Given the description of an element on the screen output the (x, y) to click on. 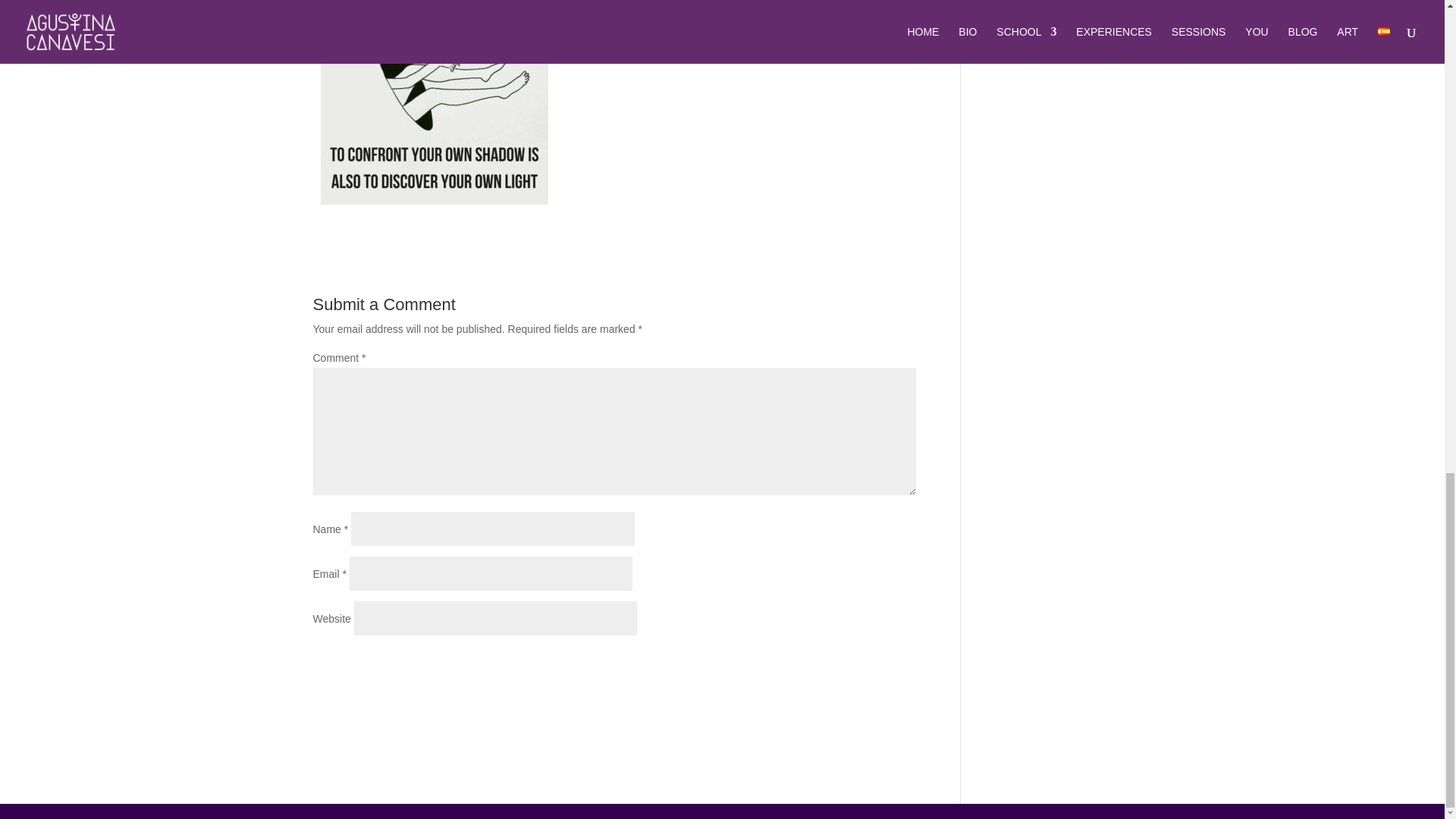
Submit Comment (840, 664)
Submit Comment (840, 664)
